Given the description of an element on the screen output the (x, y) to click on. 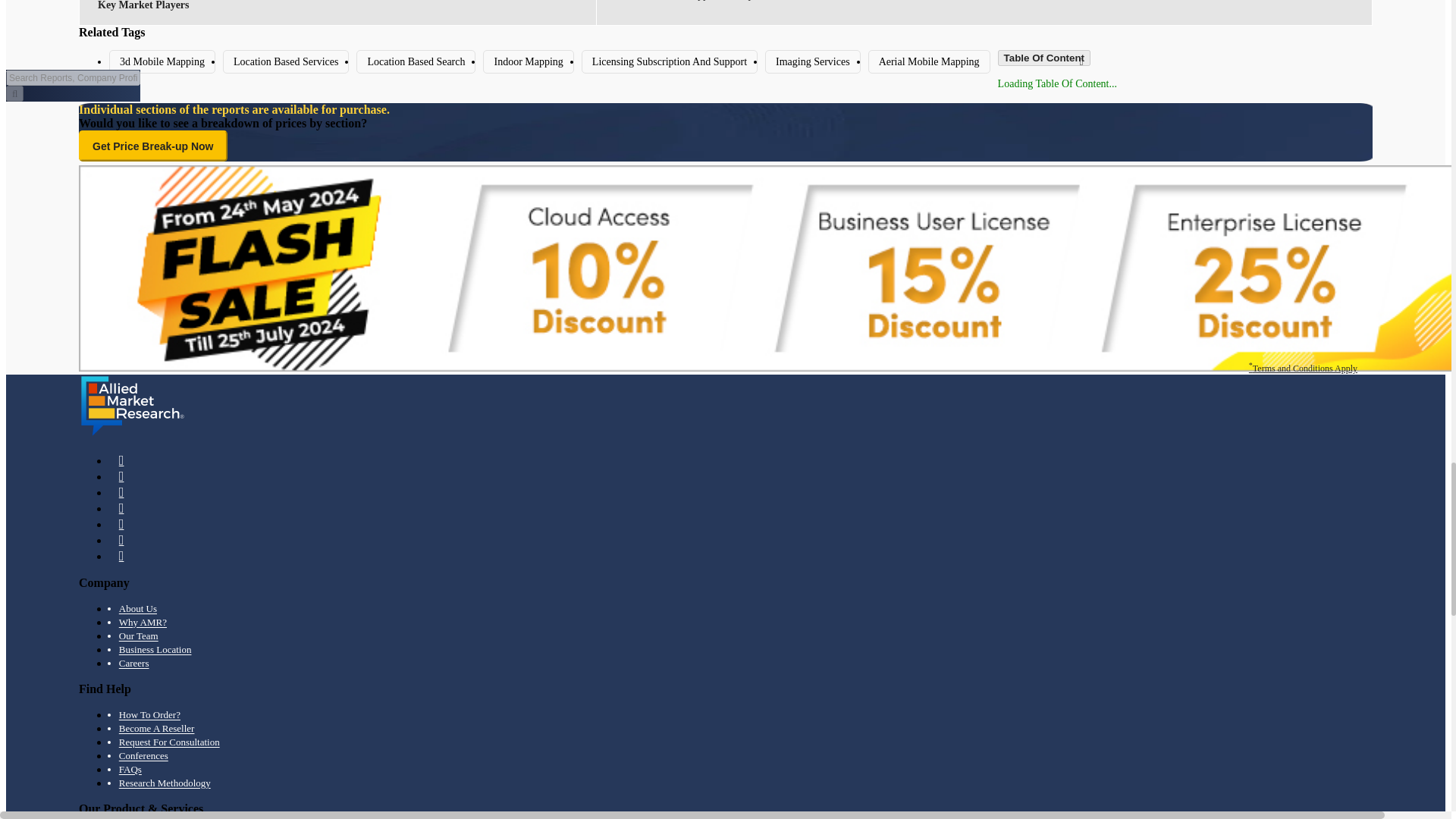
3d Mobile Mapping (162, 61)
Feedburner (121, 508)
Facebook (121, 460)
Instagram (121, 555)
Twitter (121, 492)
Linkedin (121, 476)
Location Based Services (285, 61)
Location Based Search (415, 61)
Pinterest (121, 539)
Youtube (121, 524)
Allied Market Research Footer Logo (132, 405)
